Given the description of an element on the screen output the (x, y) to click on. 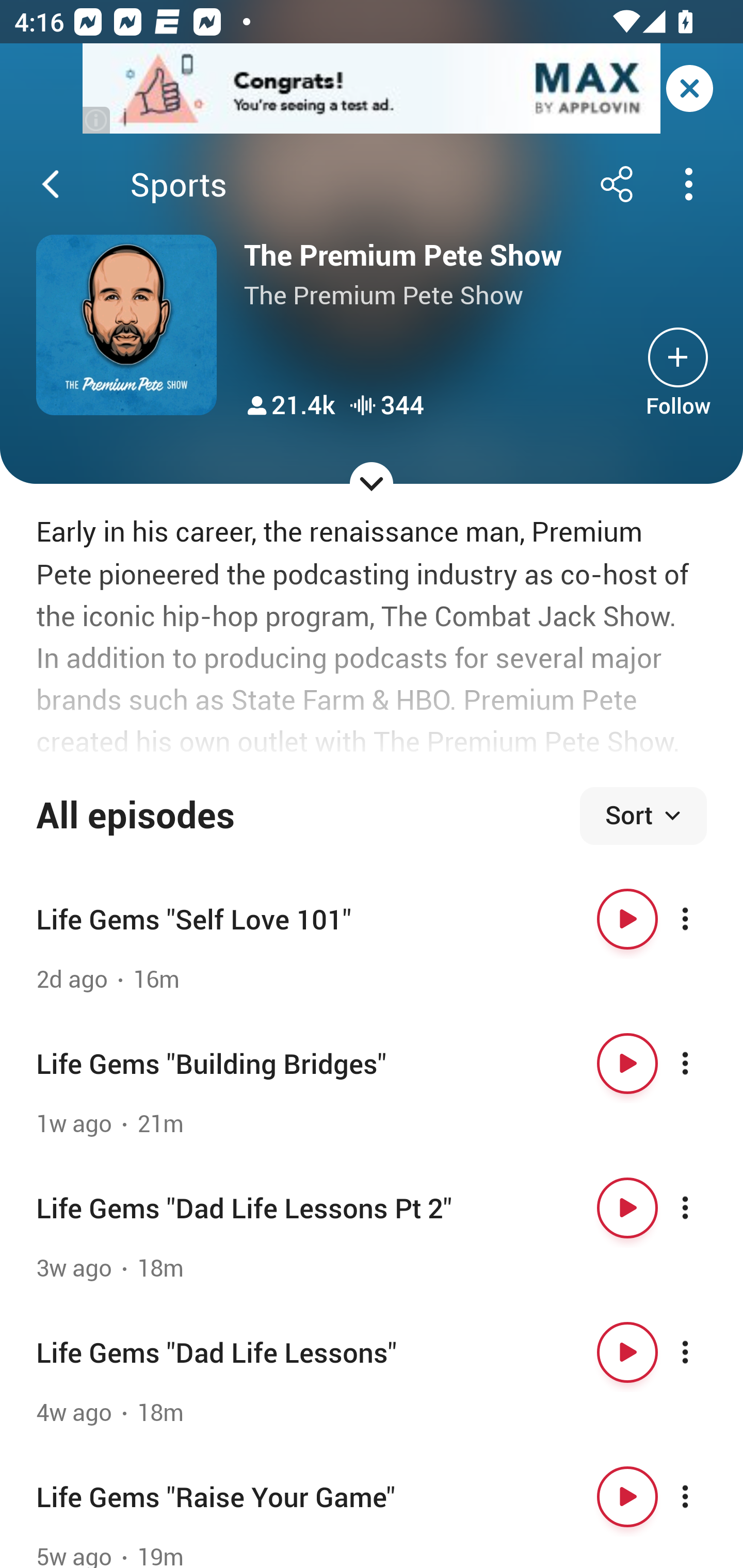
app-monetization (371, 88)
(i) (96, 119)
Back (50, 184)
Subscribe button (677, 357)
Sort episodes Sort (643, 816)
Play button (627, 919)
More options (703, 919)
Play button (627, 1063)
More options (703, 1063)
Play button (627, 1208)
More options (703, 1208)
Play button (627, 1352)
More options (703, 1352)
Play button (627, 1496)
More options (703, 1496)
